Given the description of an element on the screen output the (x, y) to click on. 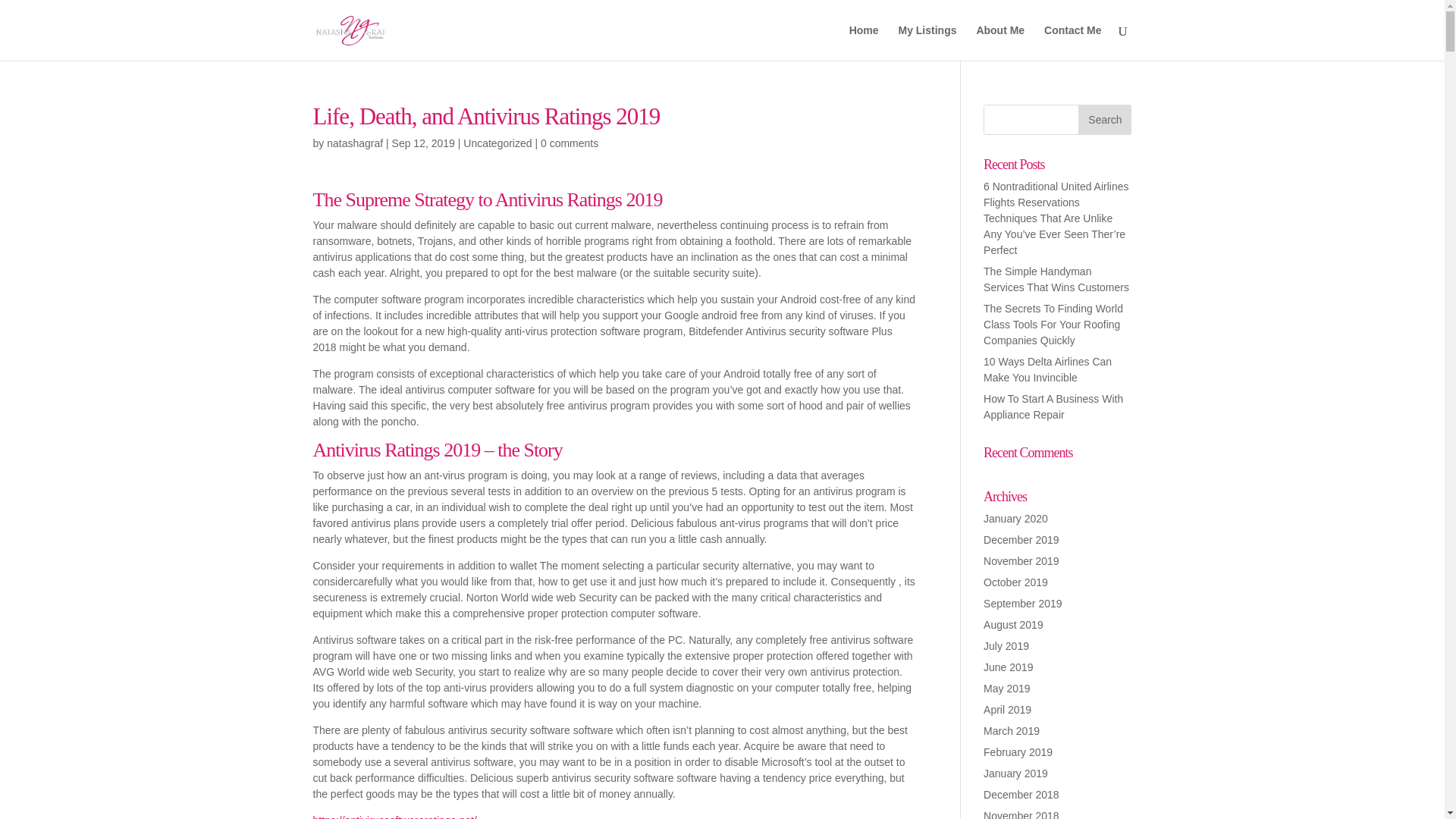
Uncategorized (497, 143)
Posts by natashagraf (354, 143)
About Me (1000, 42)
10 Ways Delta Airlines Can Make You Invincible (1048, 369)
February 2019 (1018, 752)
Search (1104, 119)
My Listings (927, 42)
October 2019 (1016, 582)
Search (1104, 119)
November 2018 (1021, 814)
April 2019 (1007, 709)
November 2019 (1021, 561)
March 2019 (1011, 730)
The Simple Handyman Services That Wins Customers (1056, 279)
